Given the description of an element on the screen output the (x, y) to click on. 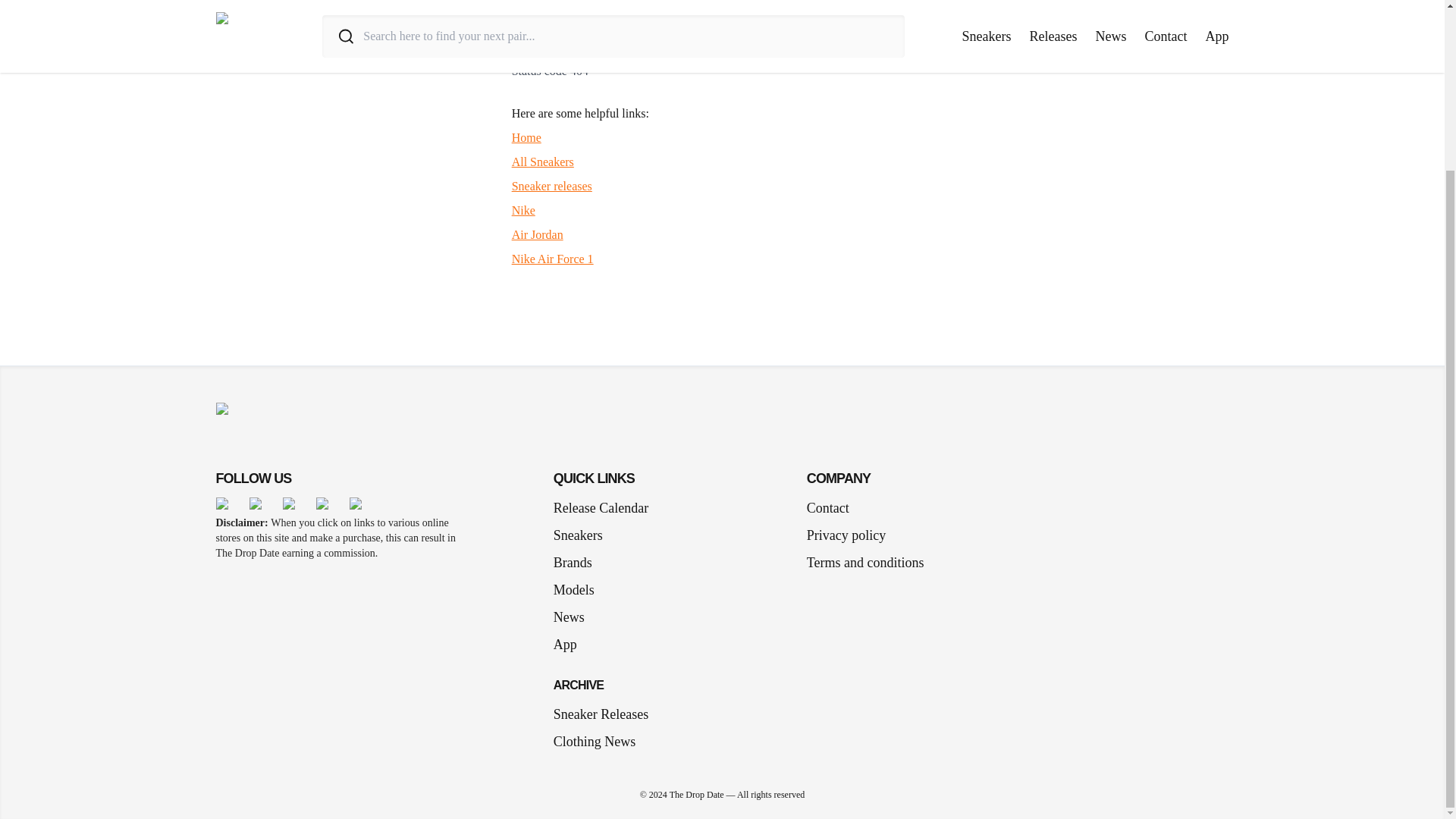
Home (526, 137)
Air Jordan (537, 234)
Sneakers (583, 535)
All Sneakers (542, 161)
Sneaker releases (552, 185)
Privacy policy (845, 535)
Terms and conditions (865, 562)
Release Calendar (600, 507)
Nike Air Force 1 (553, 258)
Sneaker Releases (600, 713)
